Given the description of an element on the screen output the (x, y) to click on. 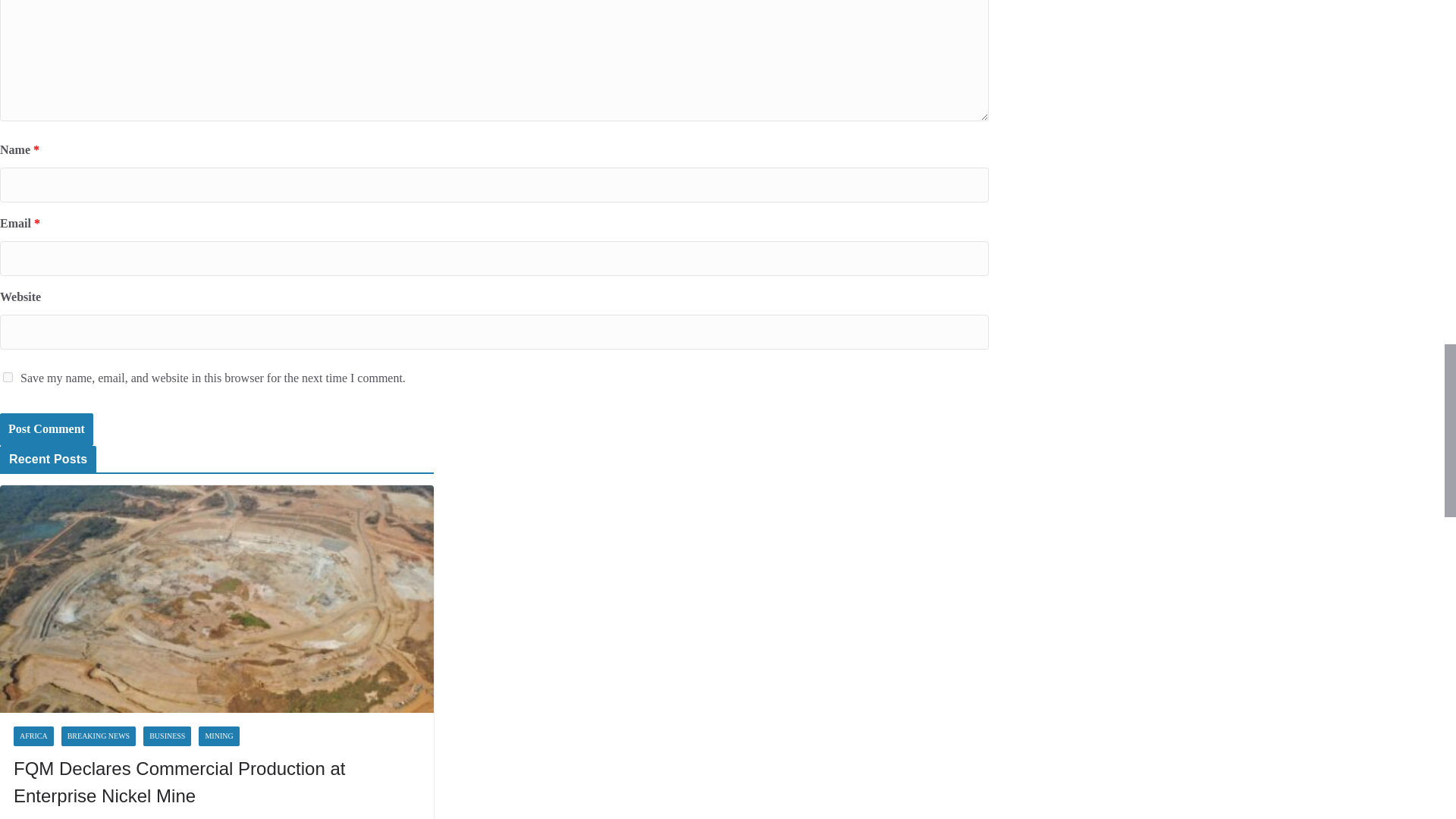
yes (7, 377)
Post Comment (46, 429)
